Given the description of an element on the screen output the (x, y) to click on. 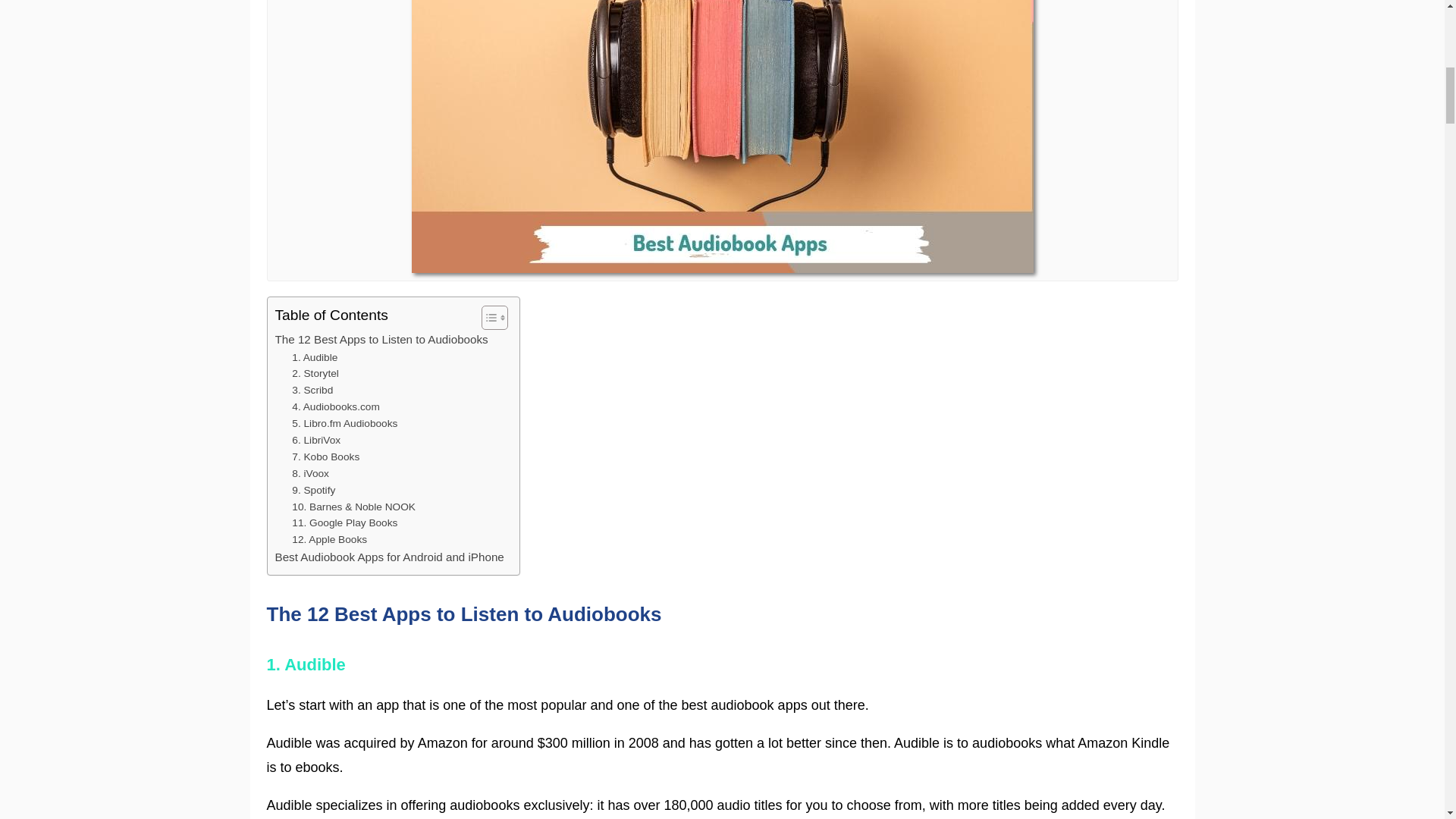
2. Storytel (315, 373)
7. Kobo Books (325, 457)
The 12 Best Apps to Listen to Audiobooks (381, 339)
11. Google Play Books (344, 523)
6. LibriVox (316, 440)
9. Spotify (313, 490)
4. Audiobooks.com (336, 406)
3. Scribd (312, 390)
5. Libro.fm Audiobooks (344, 423)
6. LibriVox (316, 440)
8. iVoox (310, 474)
7. Kobo Books (325, 457)
12. Apple Books (329, 539)
3. Scribd (312, 390)
5. Libro.fm Audiobooks (344, 423)
